Given the description of an element on the screen output the (x, y) to click on. 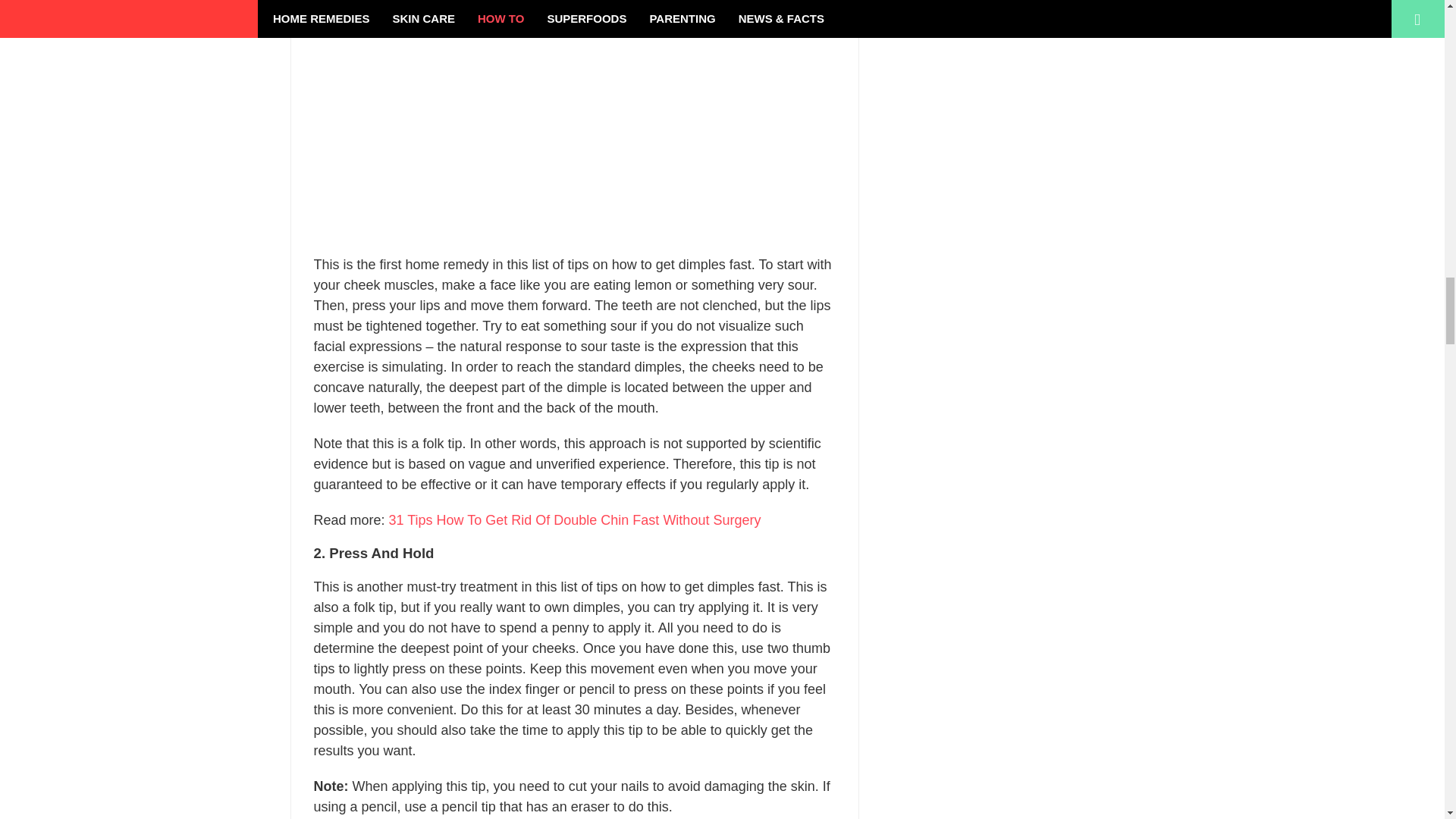
31 Tips How To Get Rid Of Double Chin Fast Without Surgery (574, 519)
